Given the description of an element on the screen output the (x, y) to click on. 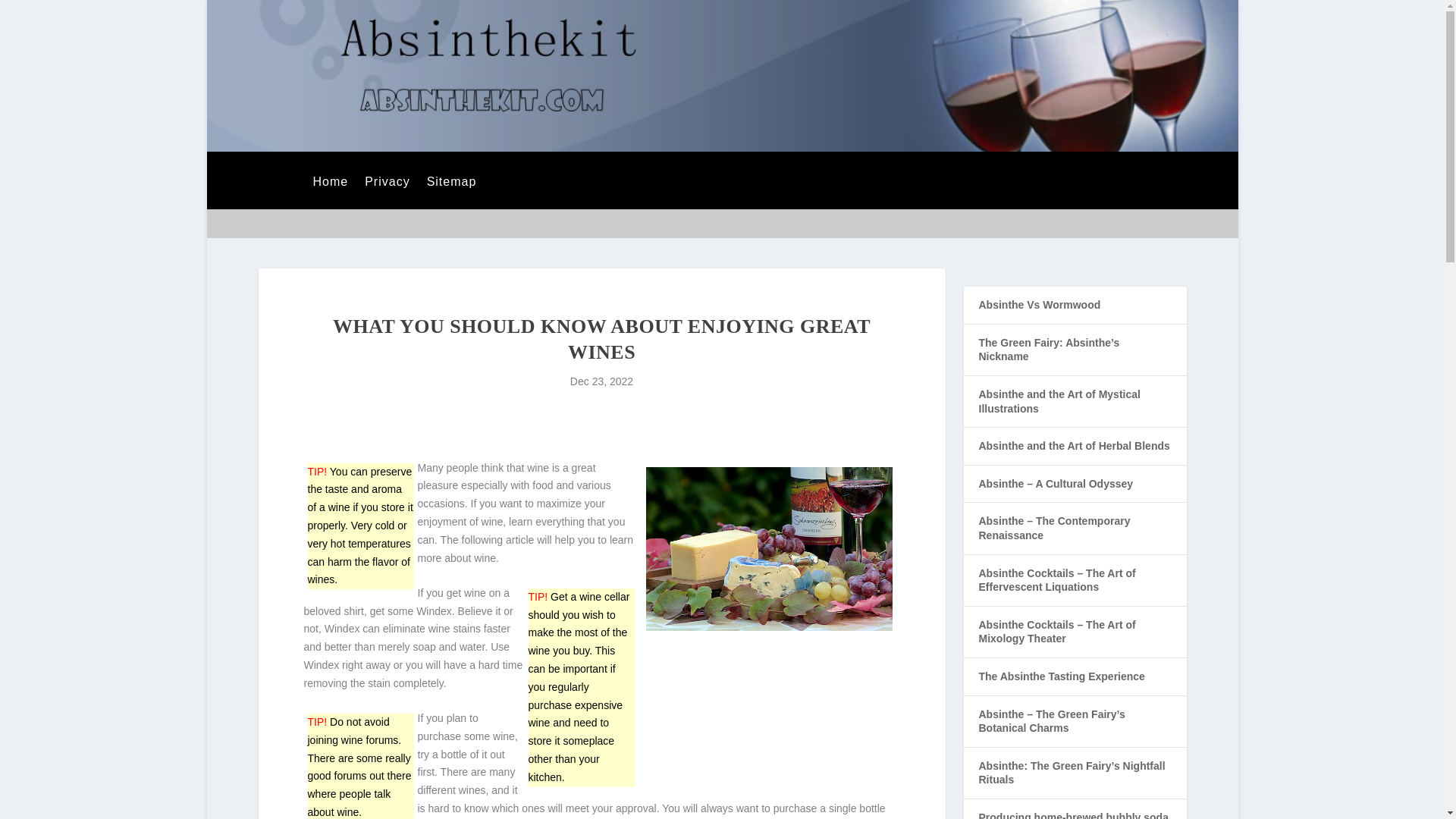
Sitemap (451, 192)
Home (330, 192)
Privacy (387, 192)
